Given the description of an element on the screen output the (x, y) to click on. 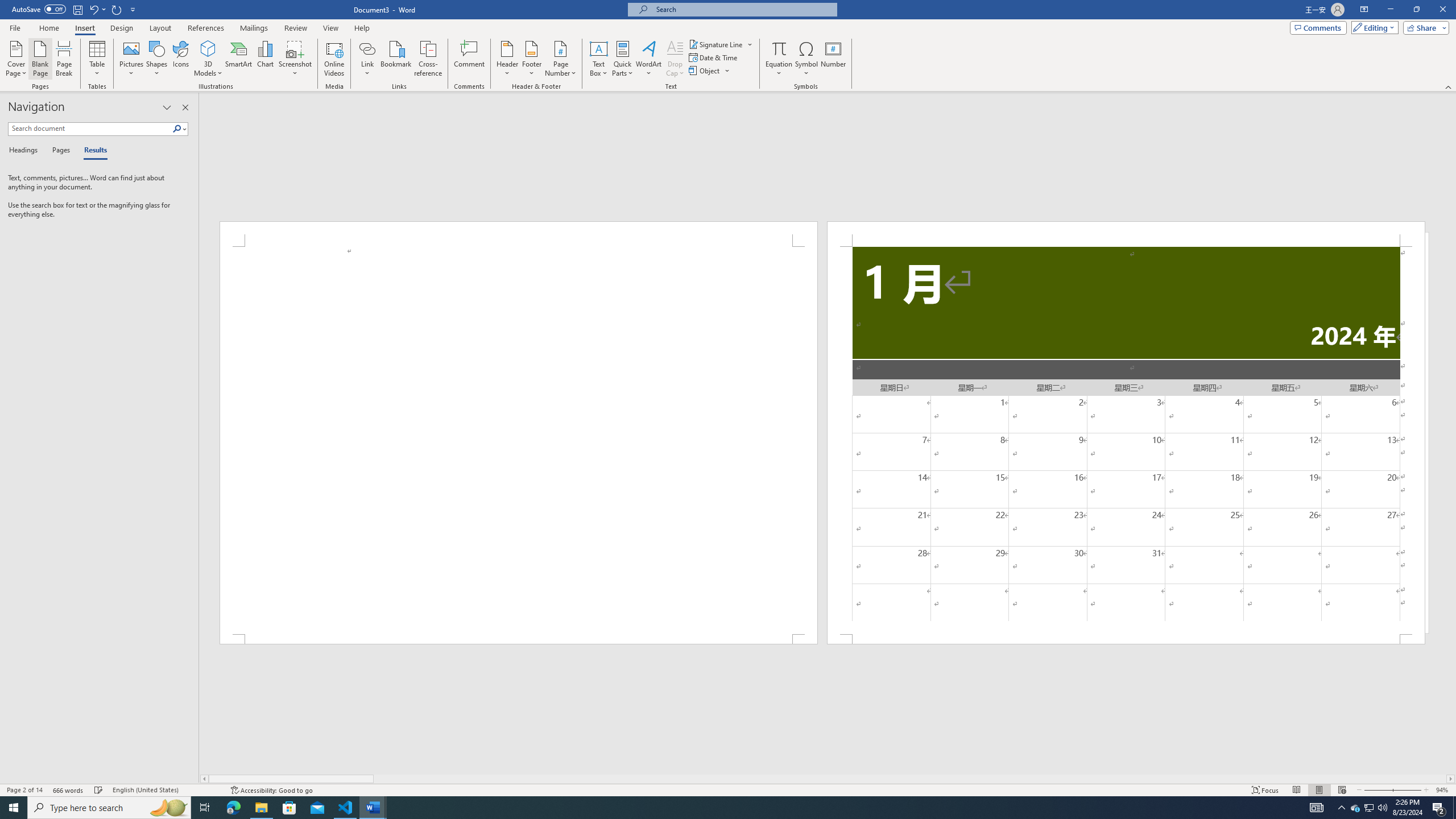
Page Number Page 2 of 14 (24, 790)
Online Videos... (333, 58)
Number... (833, 58)
Symbol (806, 58)
Footer (531, 58)
